Given the description of an element on the screen output the (x, y) to click on. 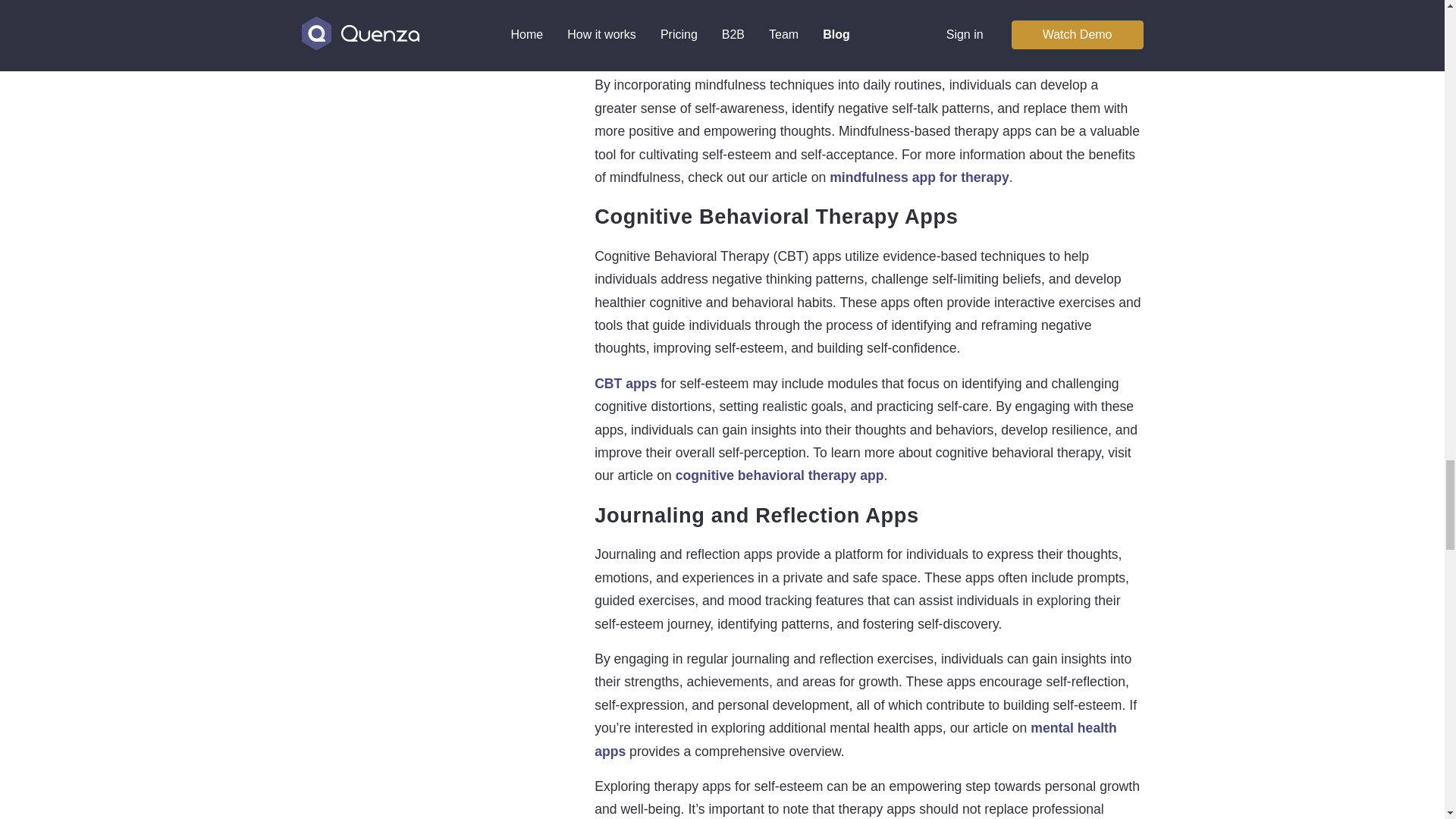
mindfulness app for therapy (919, 177)
mental health apps (855, 739)
CBT apps (625, 383)
cognitive behavioral therapy app (779, 475)
CBT apps (625, 383)
